Given the description of an element on the screen output the (x, y) to click on. 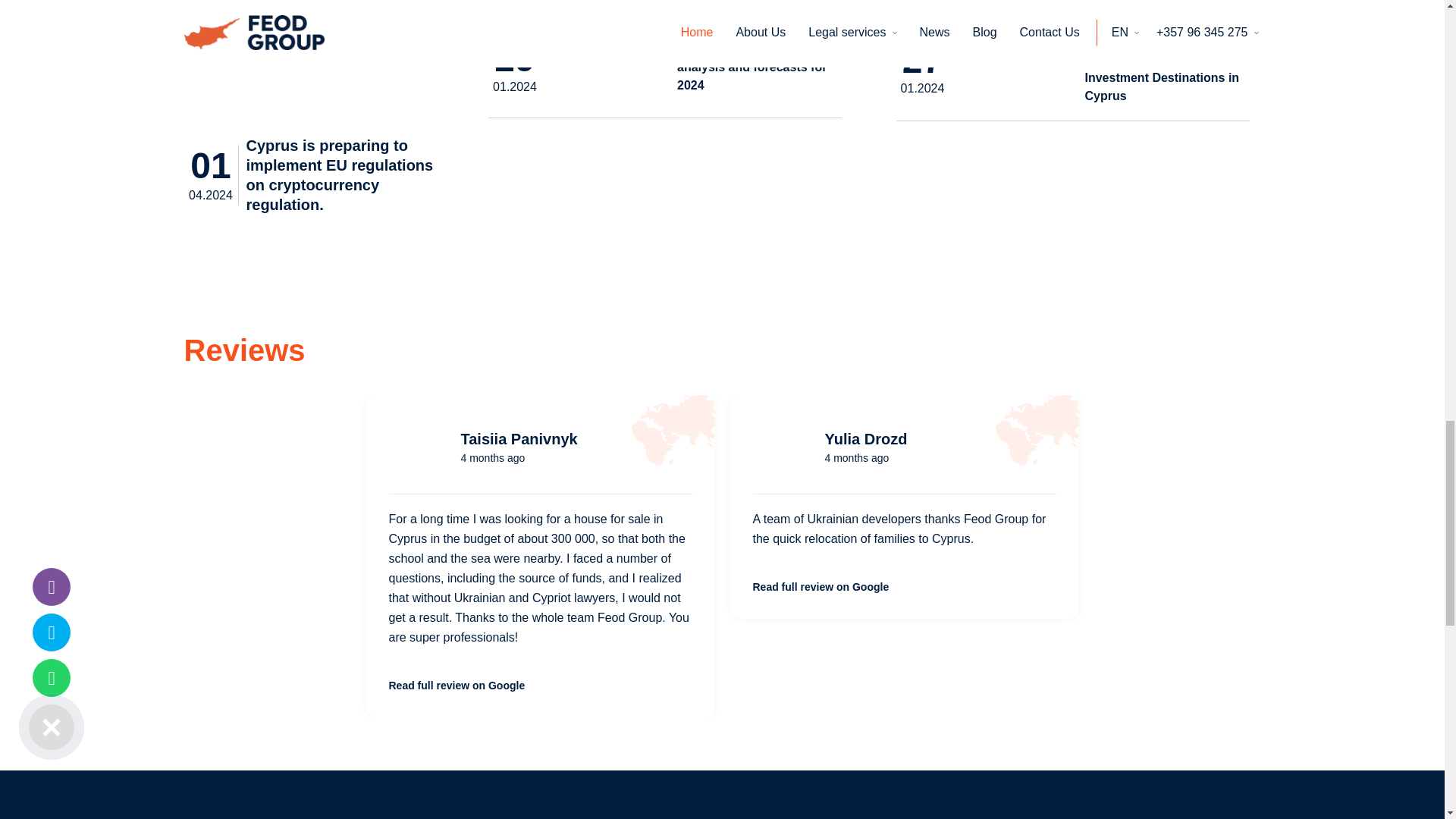
Cyprus real estate market analysis and forecasts for 2024 (609, 67)
